Given the description of an element on the screen output the (x, y) to click on. 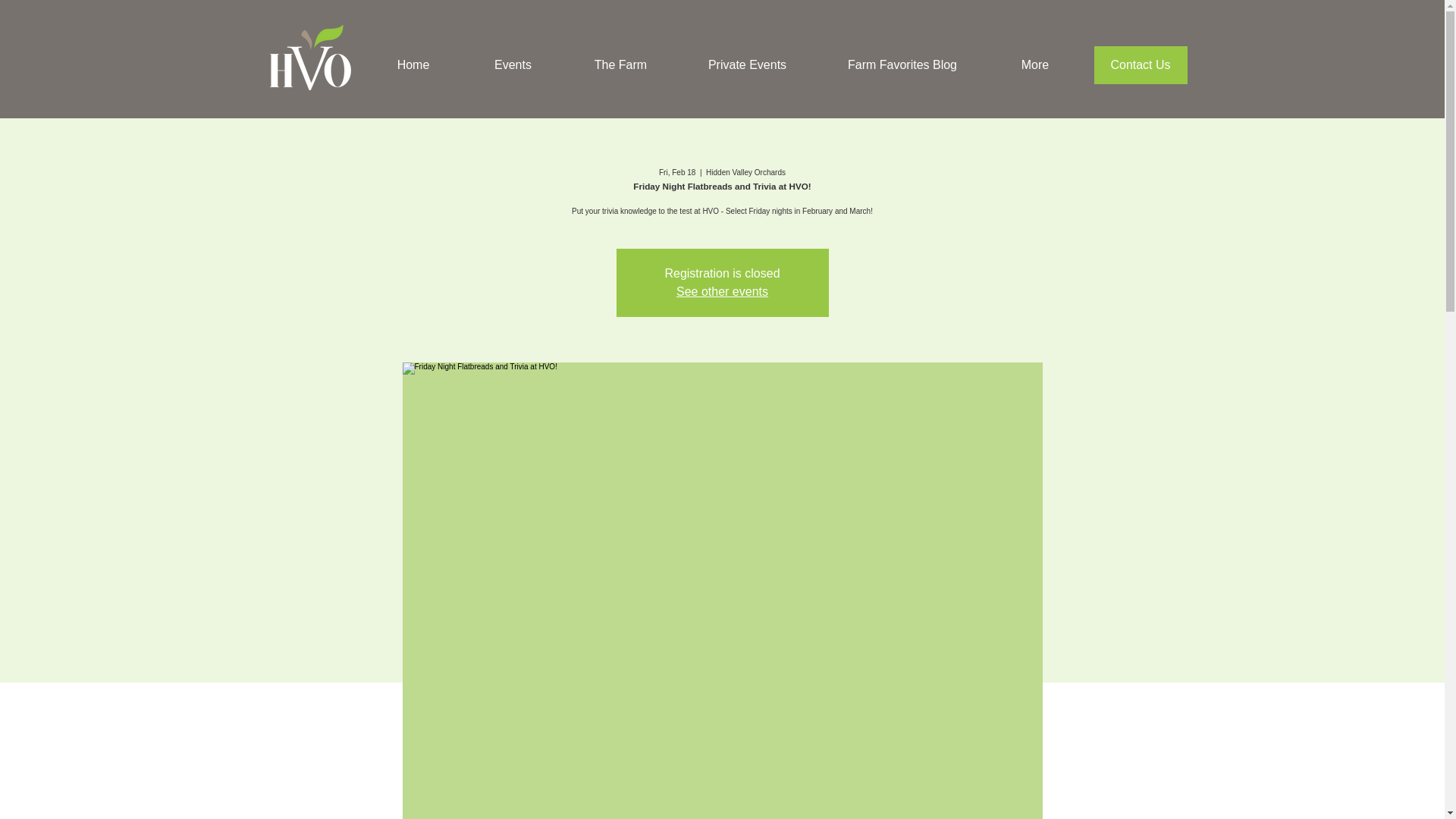
The Farm (620, 64)
Farm Favorites Blog (901, 64)
See other events (722, 291)
Events (512, 64)
Home (413, 64)
Contact Us (1139, 64)
Private Events (746, 64)
